Given the description of an element on the screen output the (x, y) to click on. 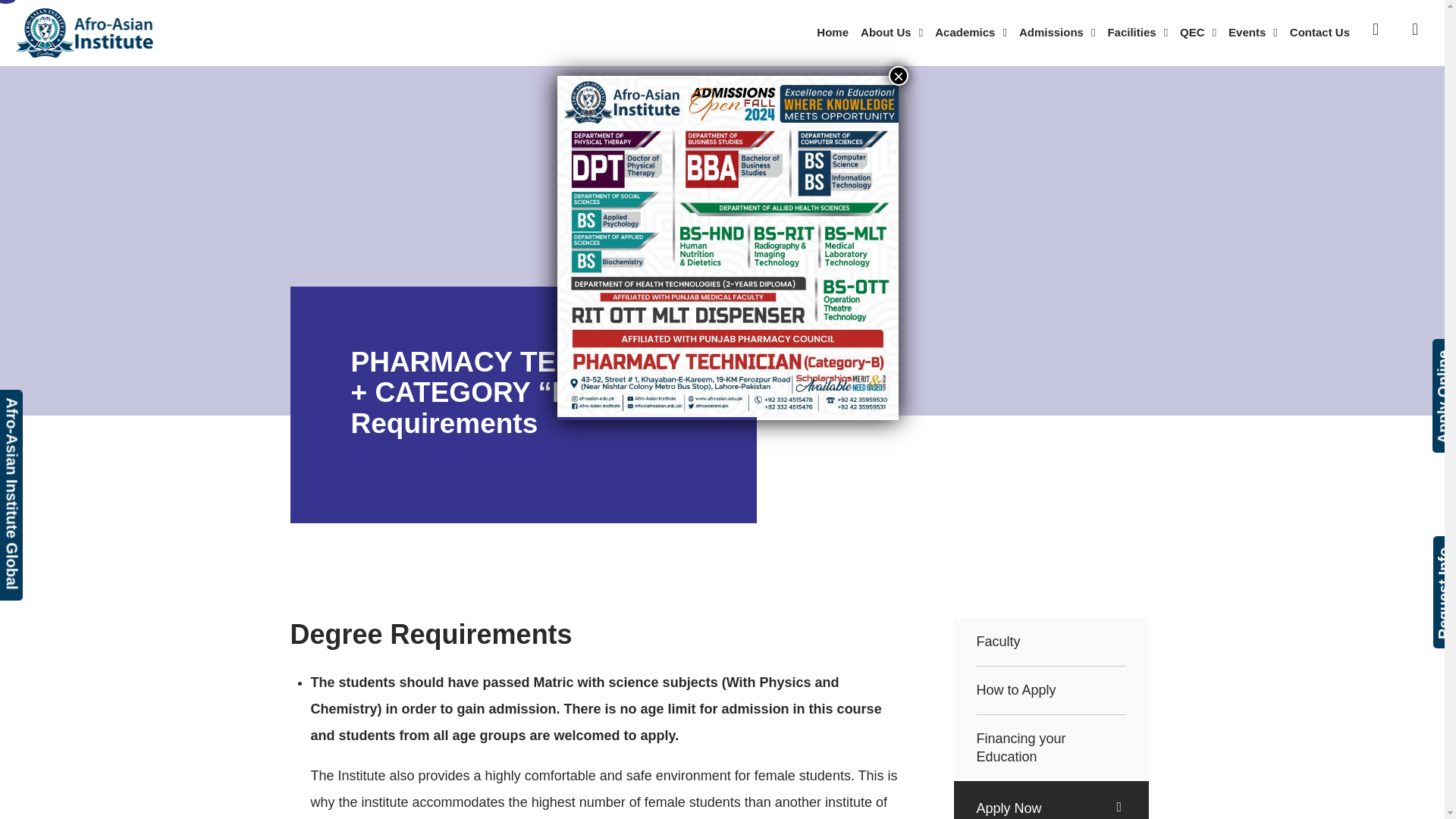
Approved Pearson Centre (104, 401)
Facilities (1136, 32)
Admissions (1057, 32)
